Given the description of an element on the screen output the (x, y) to click on. 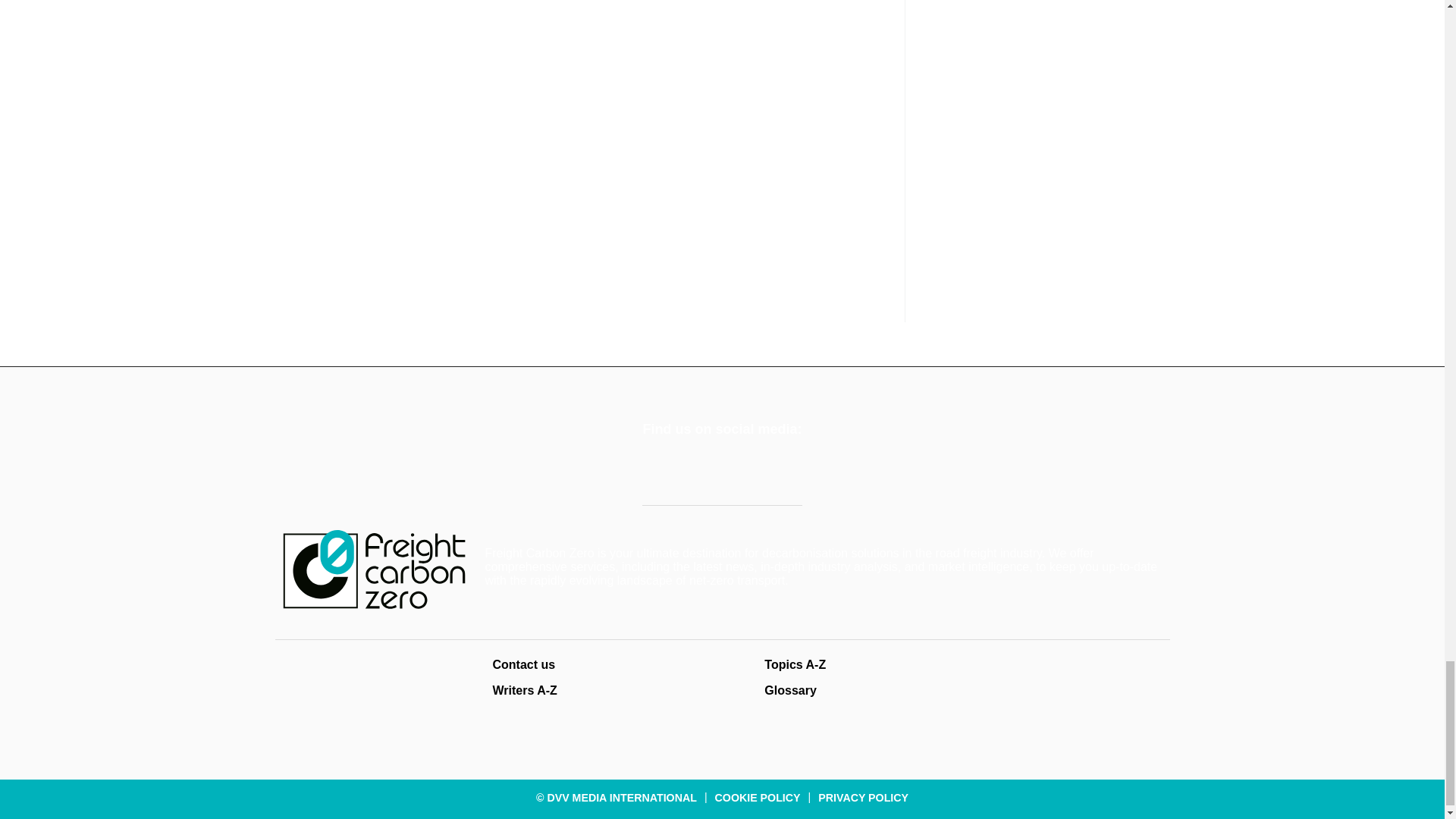
Connect with us on Twitter (658, 468)
Email us (737, 468)
Connect with us on Linked In (697, 468)
